Given the description of an element on the screen output the (x, y) to click on. 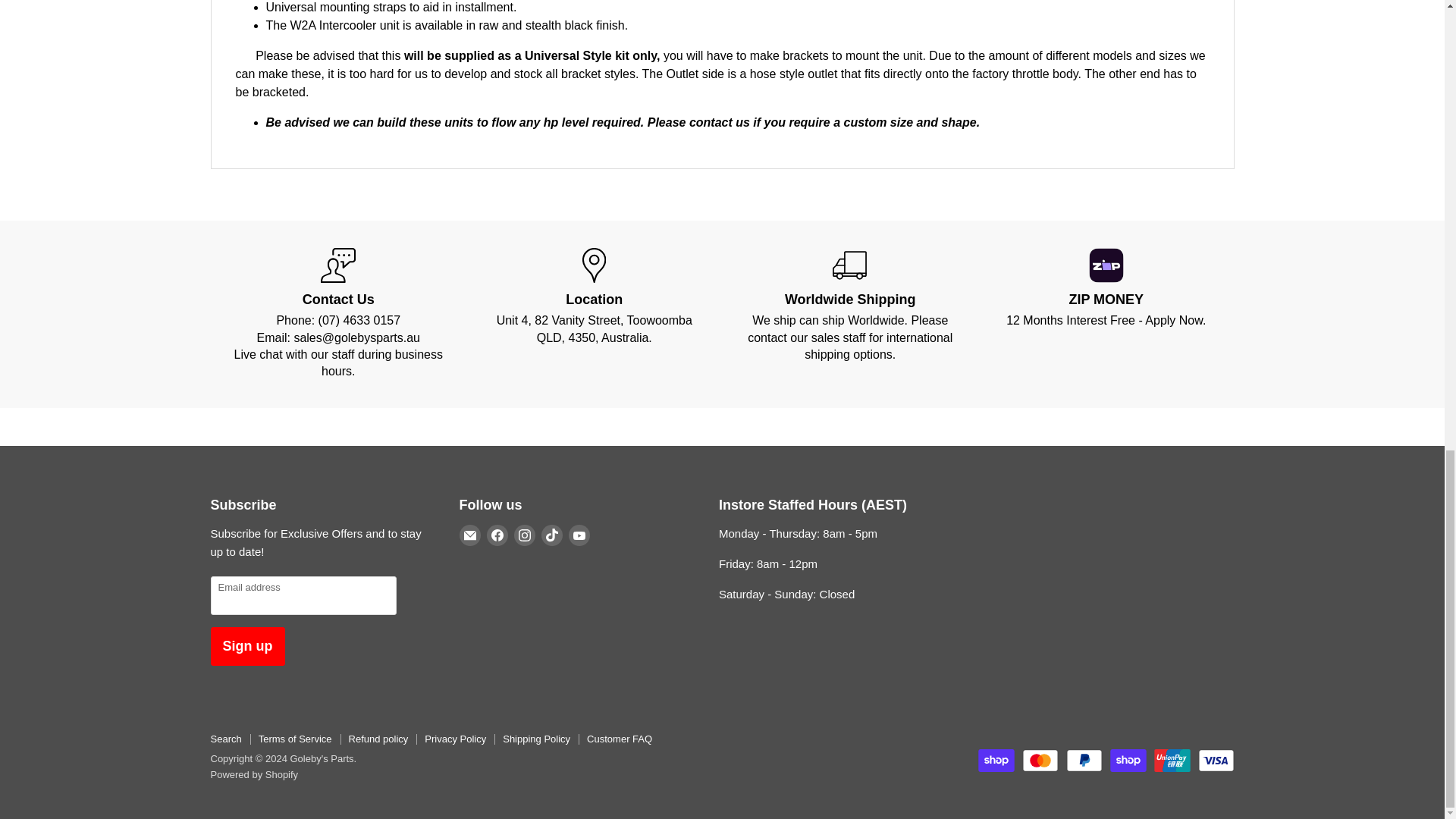
Email (470, 535)
Facebook (497, 535)
YouTube (579, 535)
Instagram (524, 535)
TikTok (551, 535)
